Given the description of an element on the screen output the (x, y) to click on. 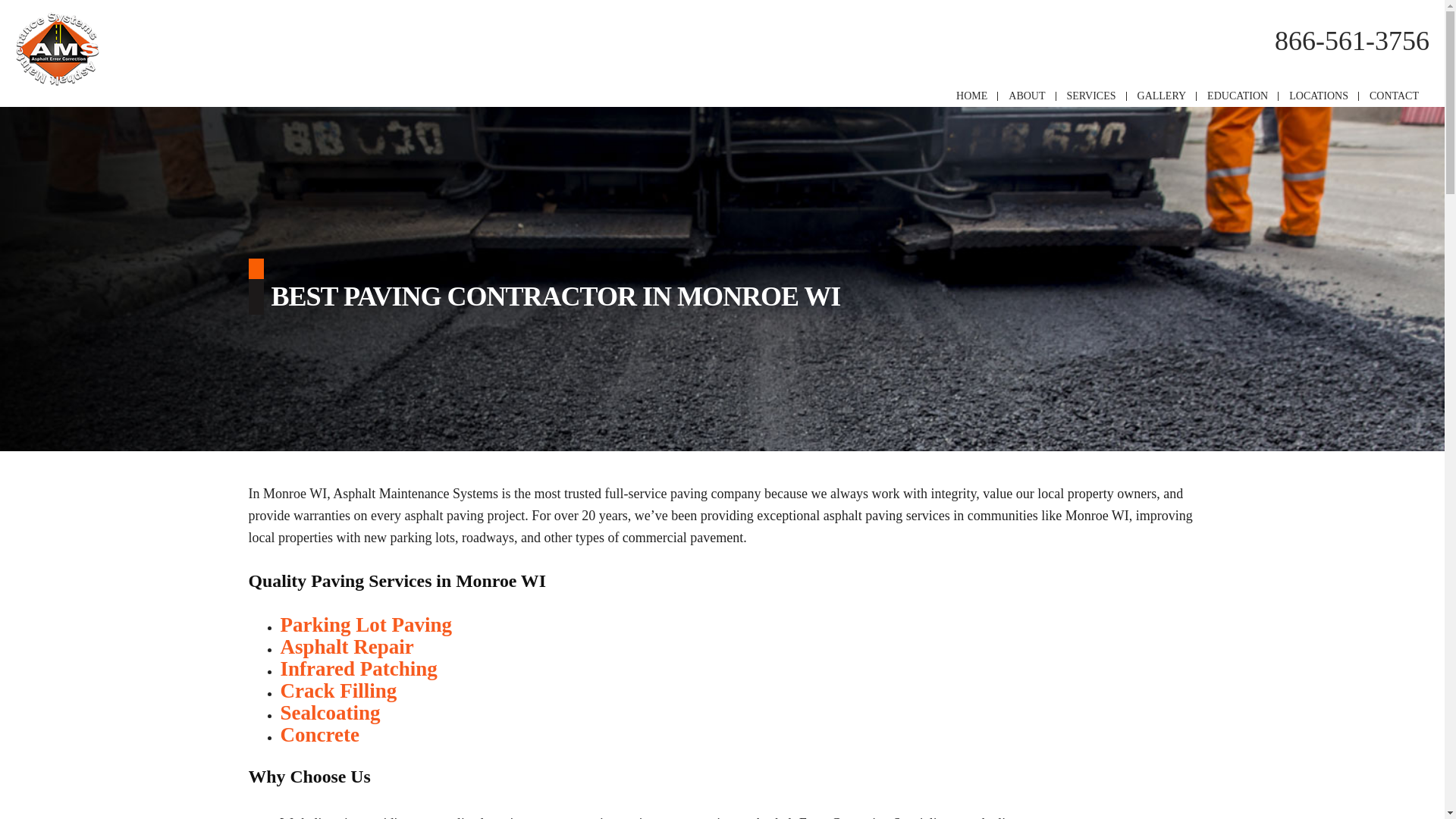
Crack Filling (339, 690)
Parking Lot Paving (366, 624)
HOME (970, 96)
GALLERY (1161, 96)
EDUCATION (1237, 96)
Concrete (320, 734)
ABOUT (1026, 96)
866-561-3756 (1352, 40)
Sealcoating (330, 712)
SERVICES (1091, 96)
Infrared Patching (359, 668)
CONTACT (1393, 96)
LOCATIONS (1318, 96)
Asphalt Repair (347, 646)
